Given the description of an element on the screen output the (x, y) to click on. 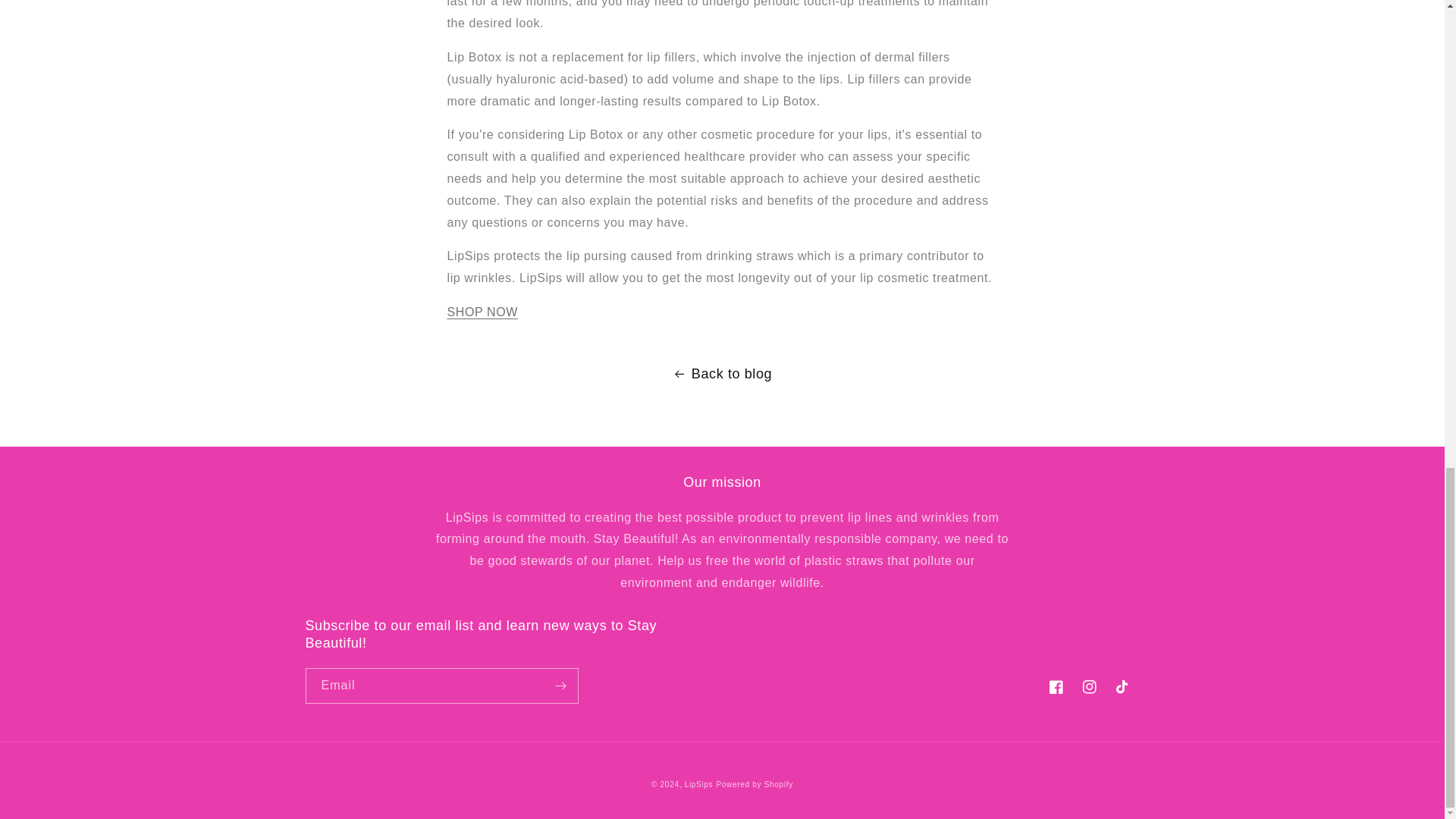
Instagram (1088, 686)
LipSips (698, 784)
TikTok (1121, 686)
Powered by Shopify (754, 784)
Facebook (1055, 686)
SHOP NOW (482, 311)
Lip Wrinkle Prevention Straw (482, 311)
